Given the description of an element on the screen output the (x, y) to click on. 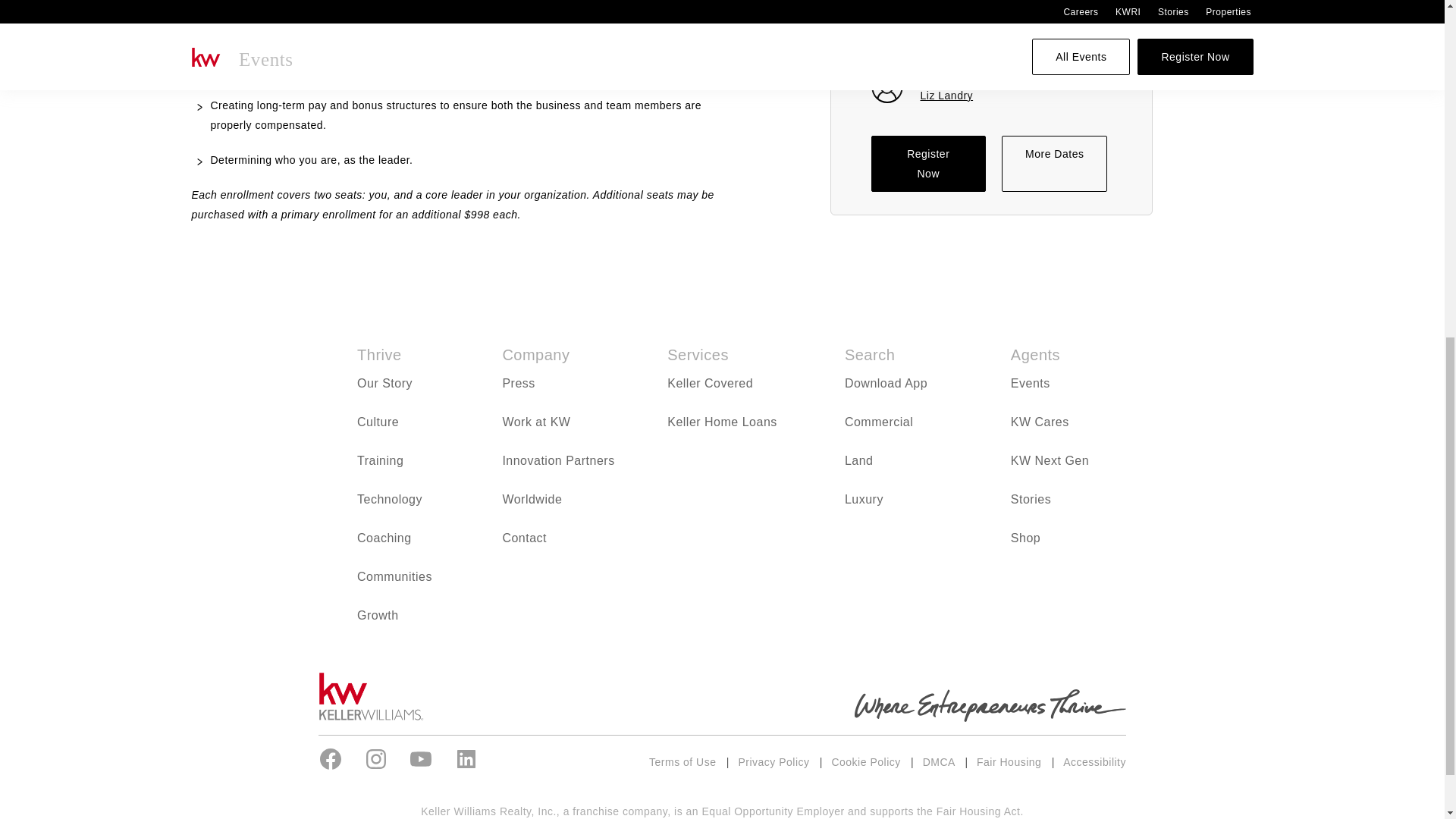
Worldwide (532, 499)
Liz Landry (947, 95)
Training (379, 460)
Our Story (384, 382)
Press (518, 382)
Communities (394, 576)
Contact (524, 537)
Agents (1034, 354)
Search (869, 354)
Keller Home Loans (721, 421)
